Given the description of an element on the screen output the (x, y) to click on. 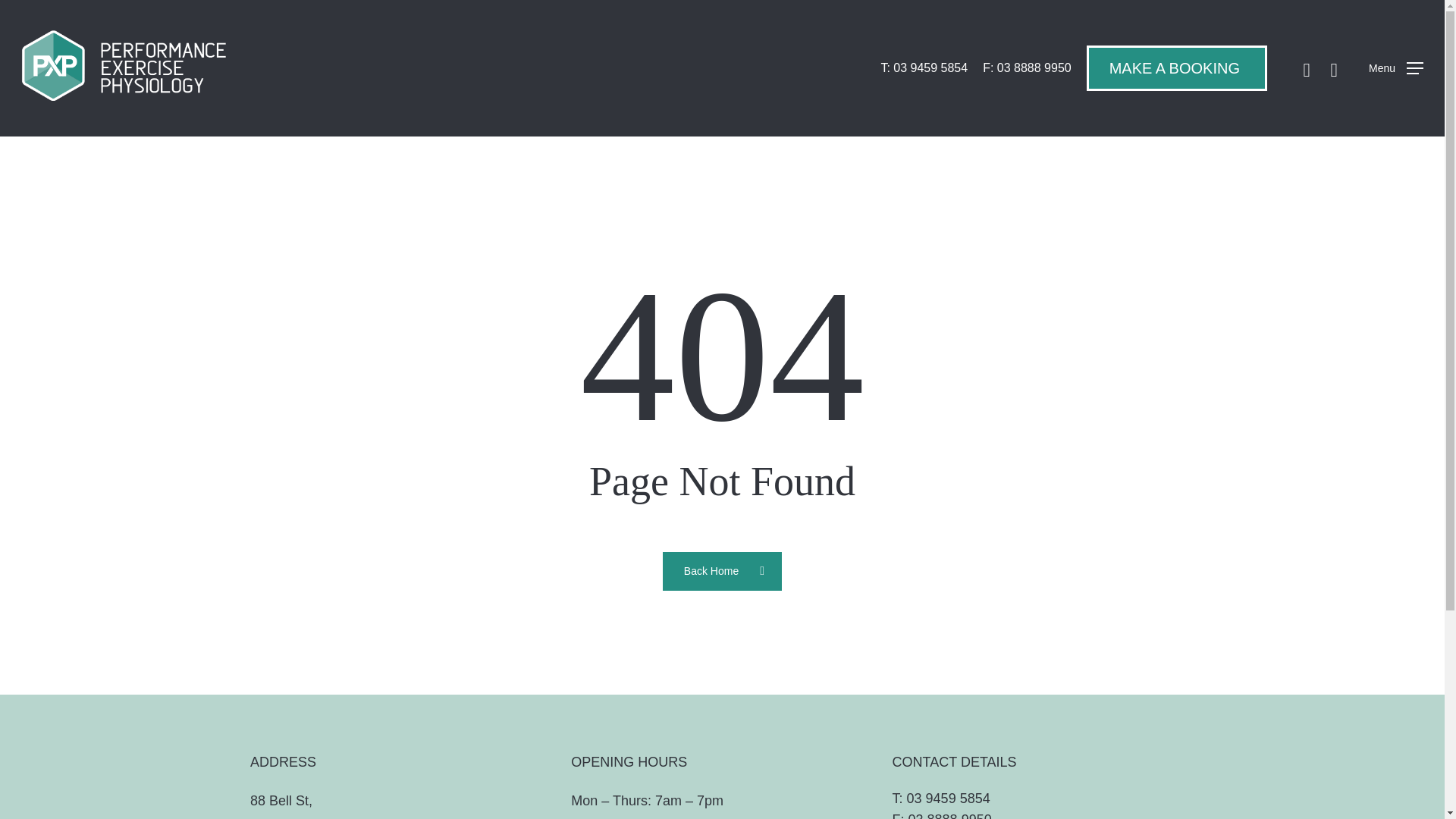
T: 03 9459 5854 (924, 68)
MAKE A BOOKING (1174, 67)
F: 03 8888 9950 (1026, 68)
instagram (1334, 67)
Back Home (722, 570)
Menu (1395, 68)
03 9459 5854 (948, 798)
facebook (1306, 67)
